Given the description of an element on the screen output the (x, y) to click on. 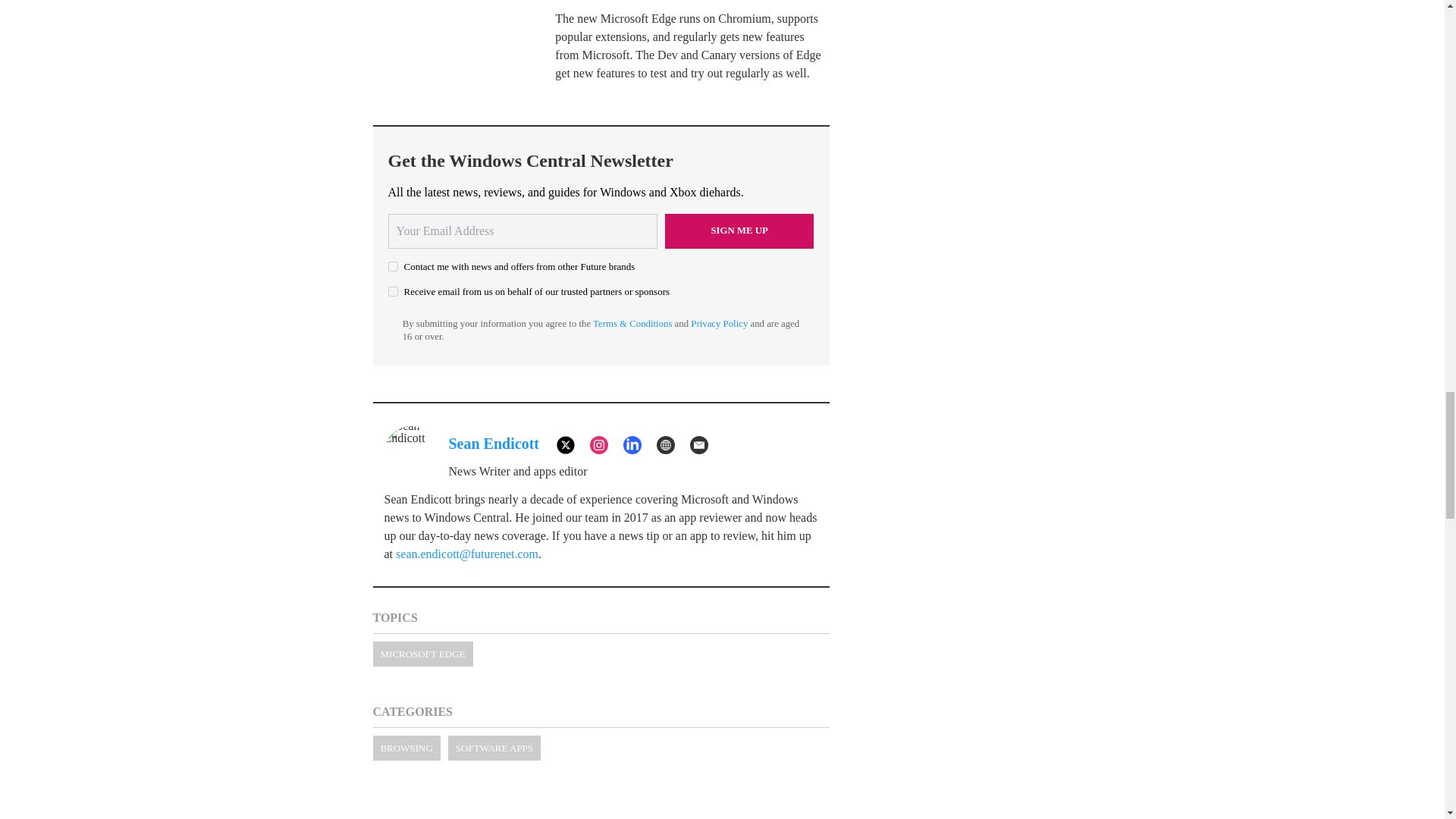
on (392, 266)
Sign me up (739, 230)
on (392, 291)
